Given the description of an element on the screen output the (x, y) to click on. 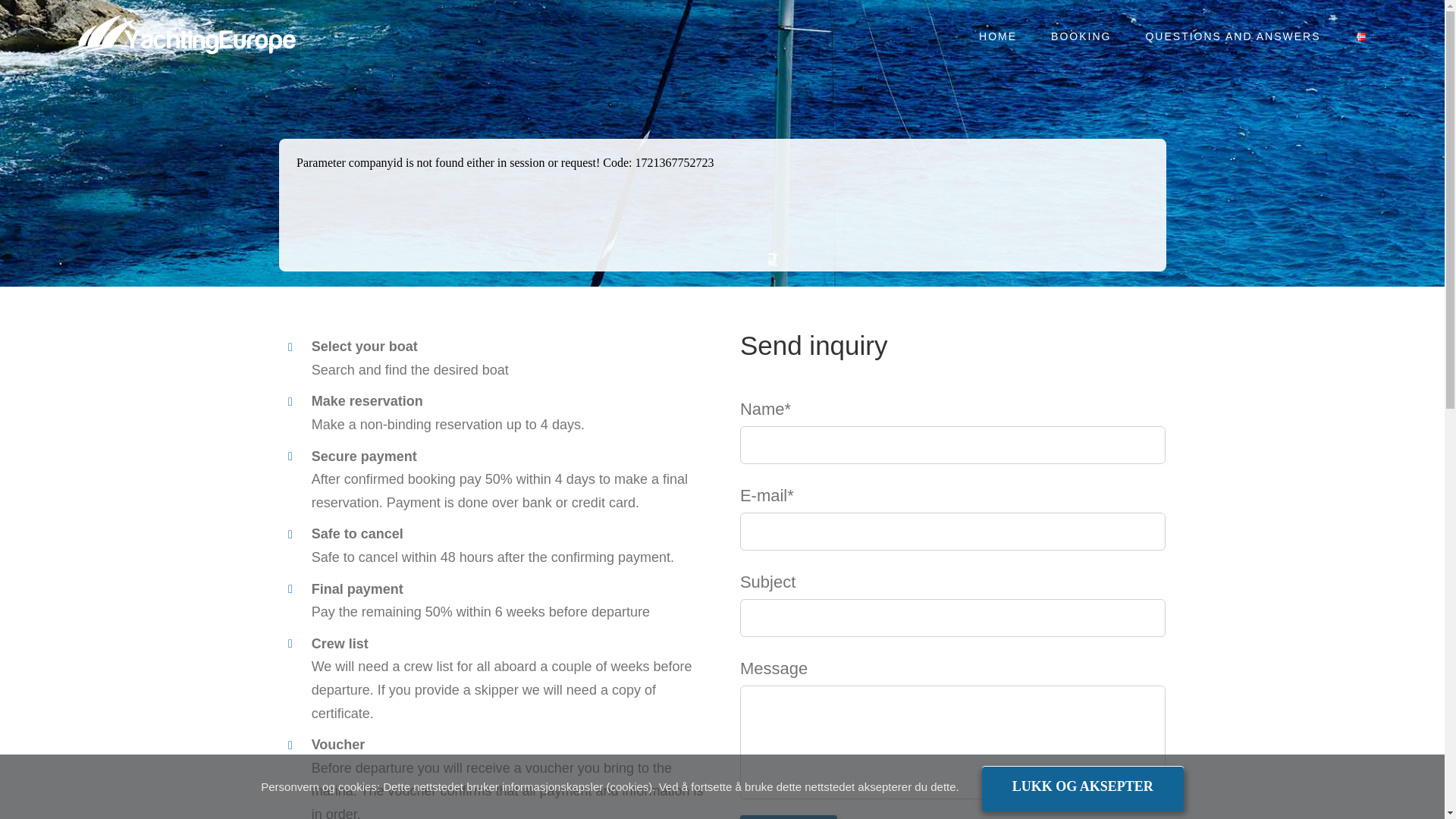
Send (788, 816)
LUKK OG AKSEPTER (1082, 786)
HOME (997, 36)
Send (788, 816)
QUESTIONS AND ANSWERS (1233, 36)
BOOKING (1080, 36)
